Given the description of an element on the screen output the (x, y) to click on. 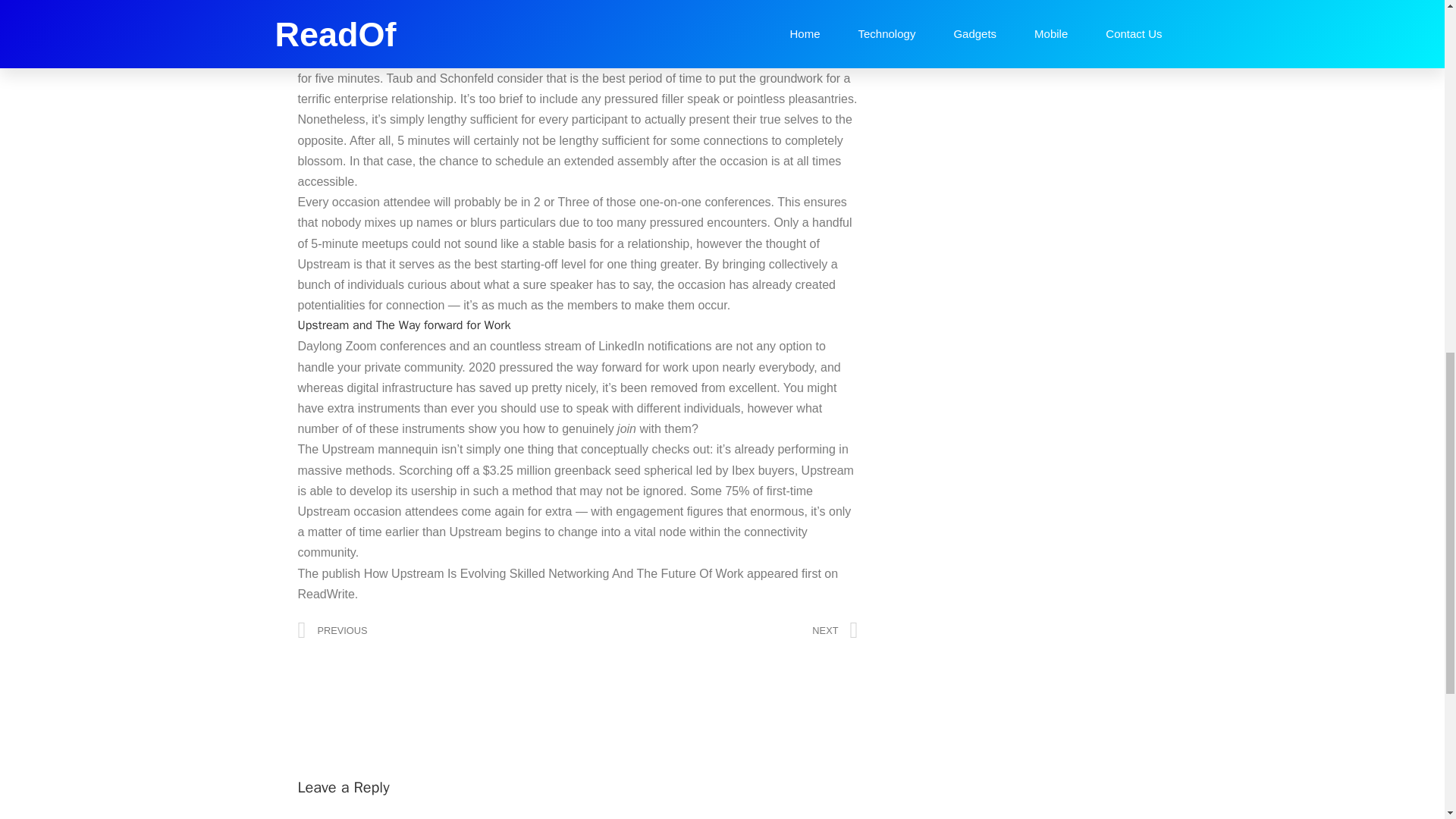
PREVIOUS (436, 630)
NEXT (717, 630)
